Given the description of an element on the screen output the (x, y) to click on. 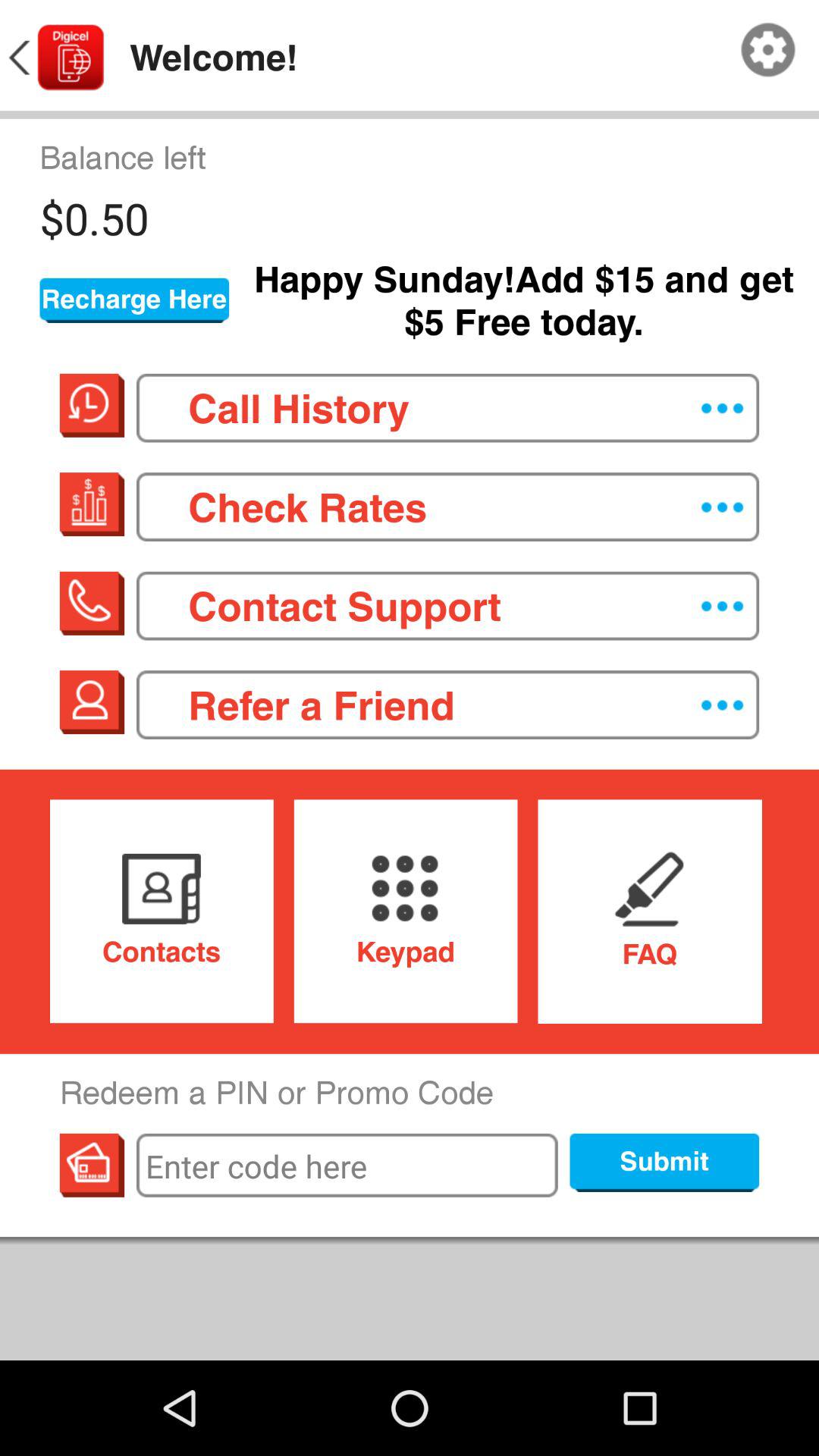
turn off button at the bottom right corner (664, 1162)
